Given the description of an element on the screen output the (x, y) to click on. 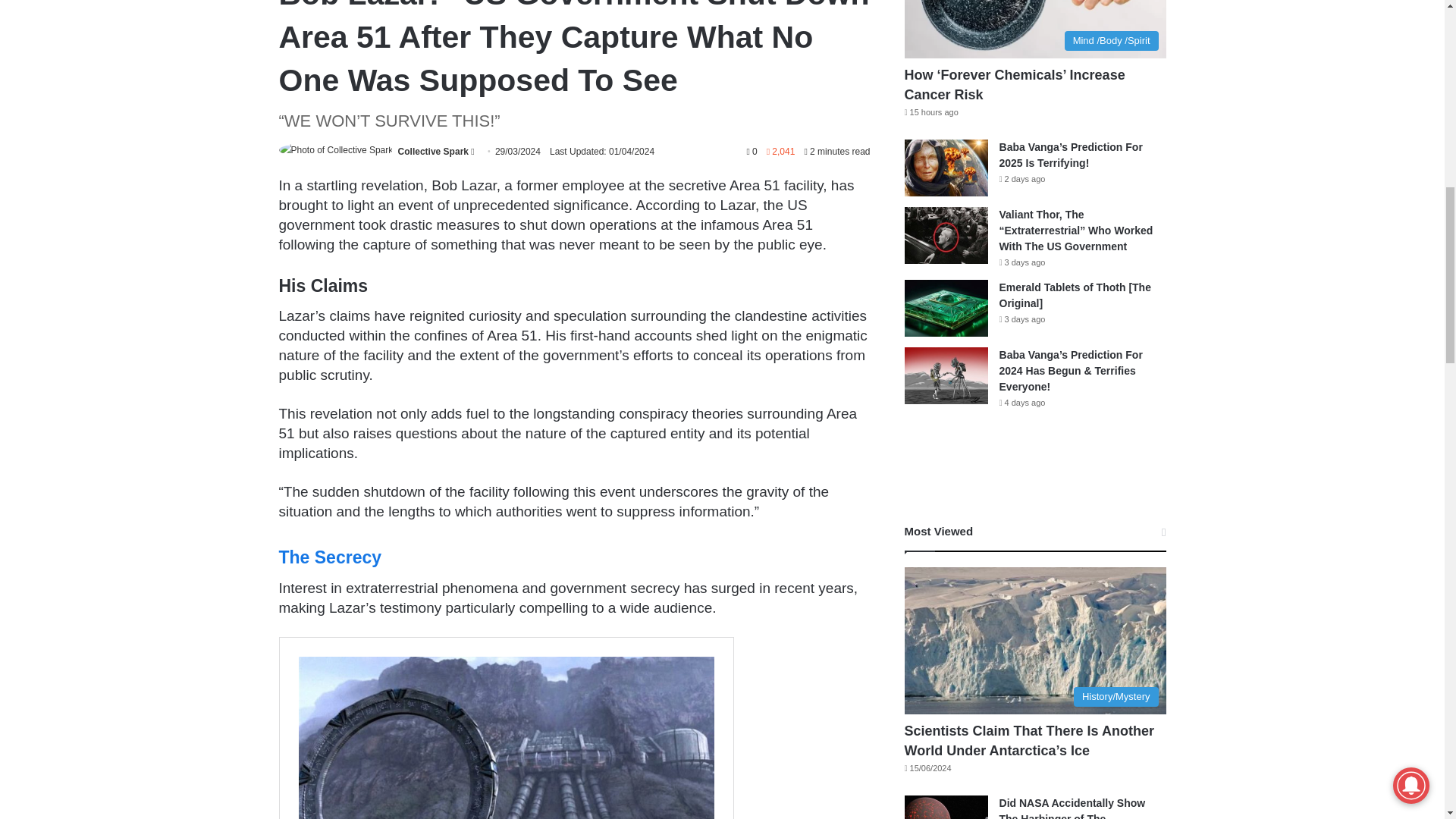
Collective Spark (432, 151)
The Secrecy (330, 557)
Send an email (472, 151)
Send an email (472, 151)
Collective Spark (432, 151)
